Given the description of an element on the screen output the (x, y) to click on. 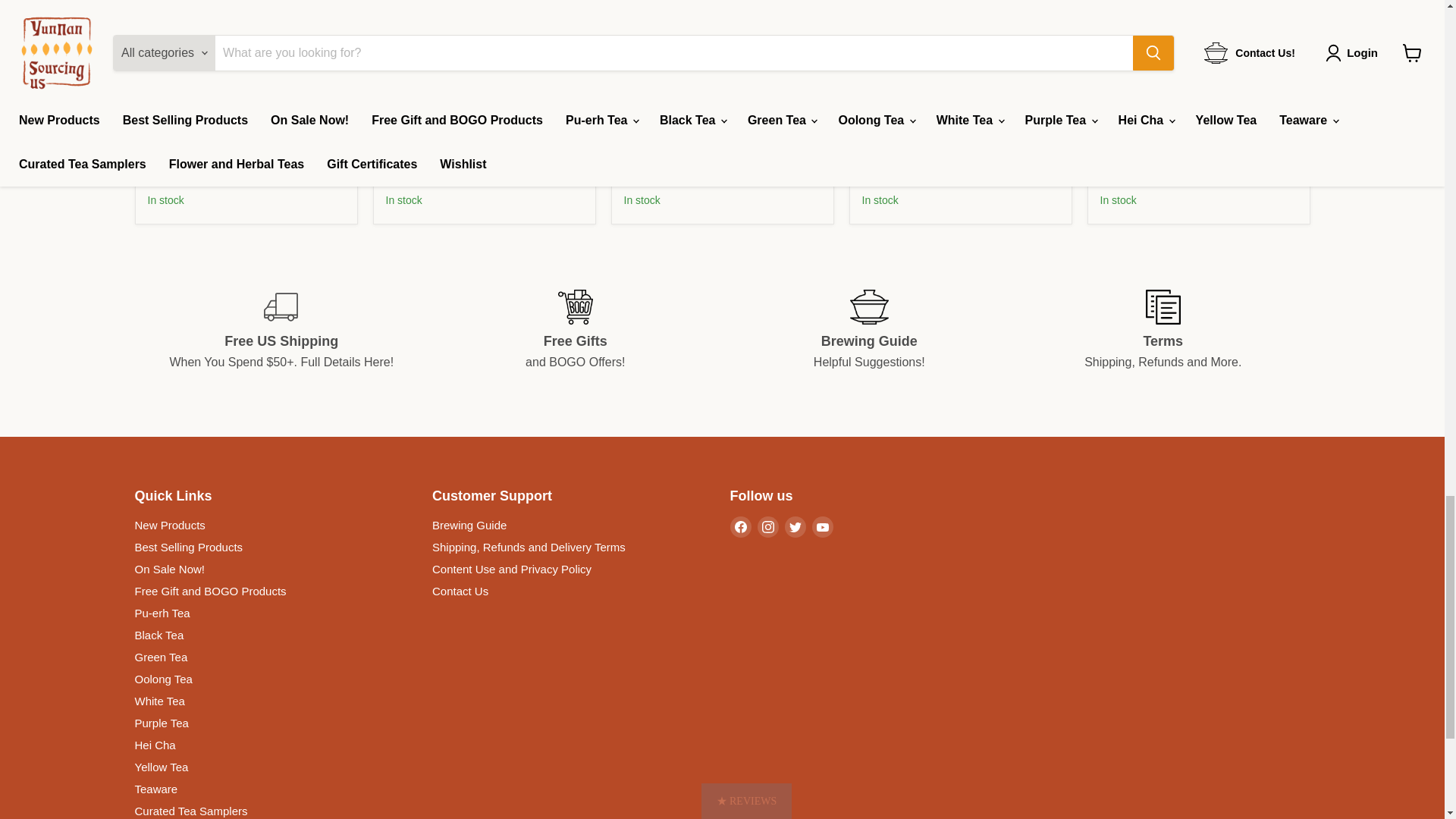
Facebook (740, 526)
Instagram (767, 526)
Twitter (794, 526)
YouTube (821, 526)
